Given the description of an element on the screen output the (x, y) to click on. 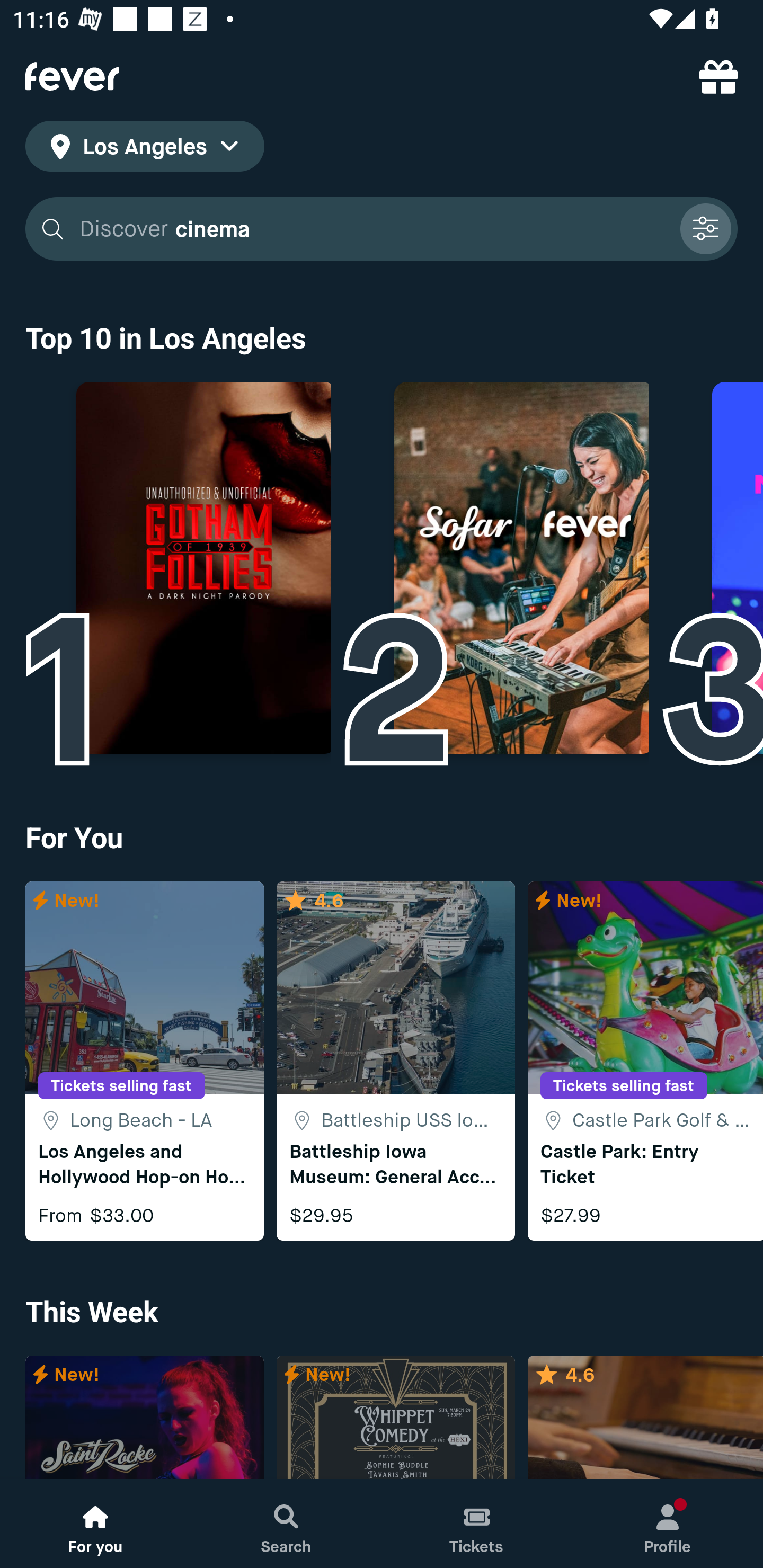
referral (718, 75)
location icon Los Angeles location icon (144, 149)
Discover cinema (381, 228)
Discover cinema (373, 228)
Search (285, 1523)
Tickets (476, 1523)
Profile, New notification Profile (667, 1523)
